Given the description of an element on the screen output the (x, y) to click on. 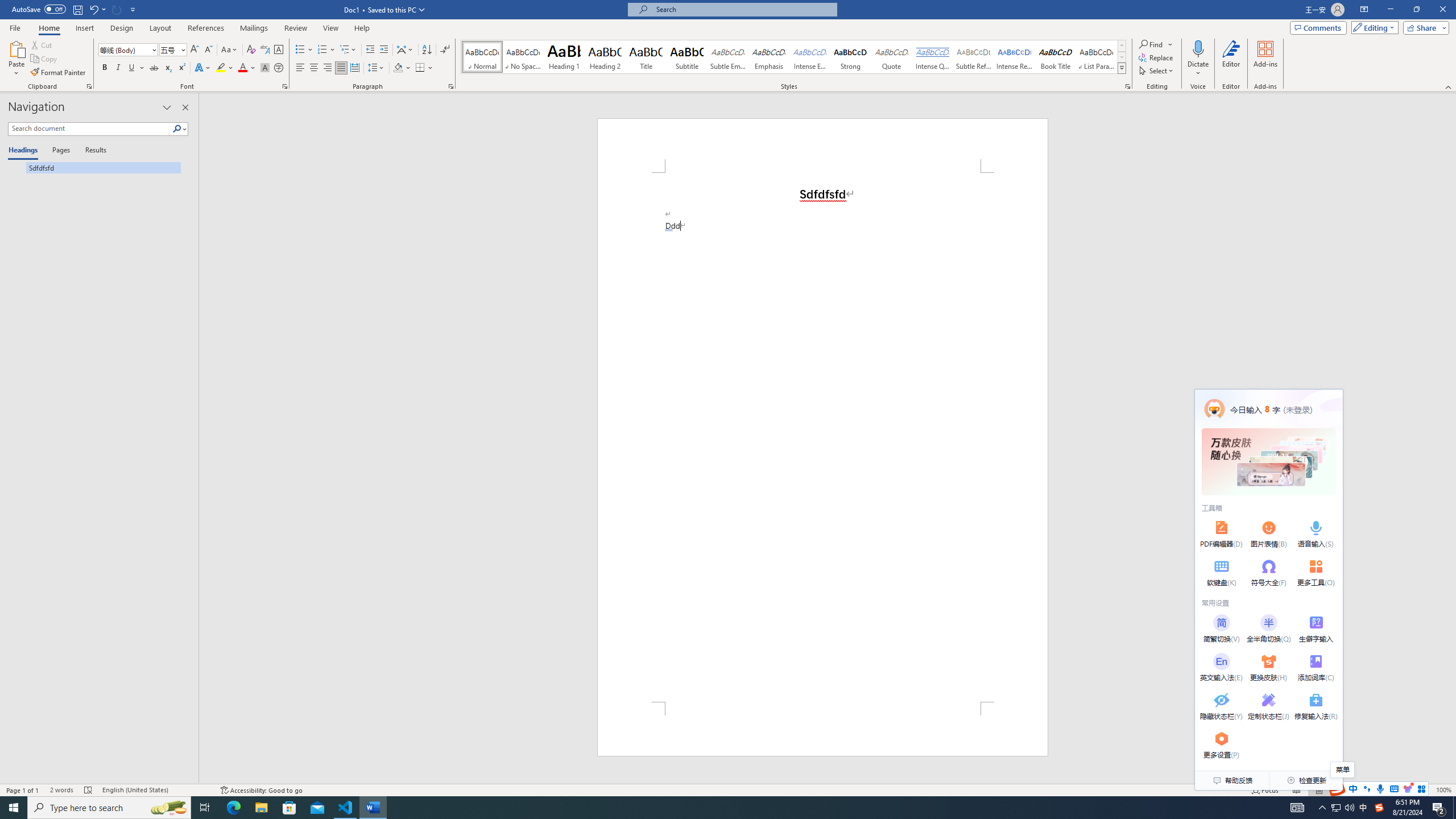
Undo AutoCorrect (92, 9)
Intense Emphasis (809, 56)
Action: Undo Auto Actions (668, 229)
Page 1 content (822, 436)
